Given the description of an element on the screen output the (x, y) to click on. 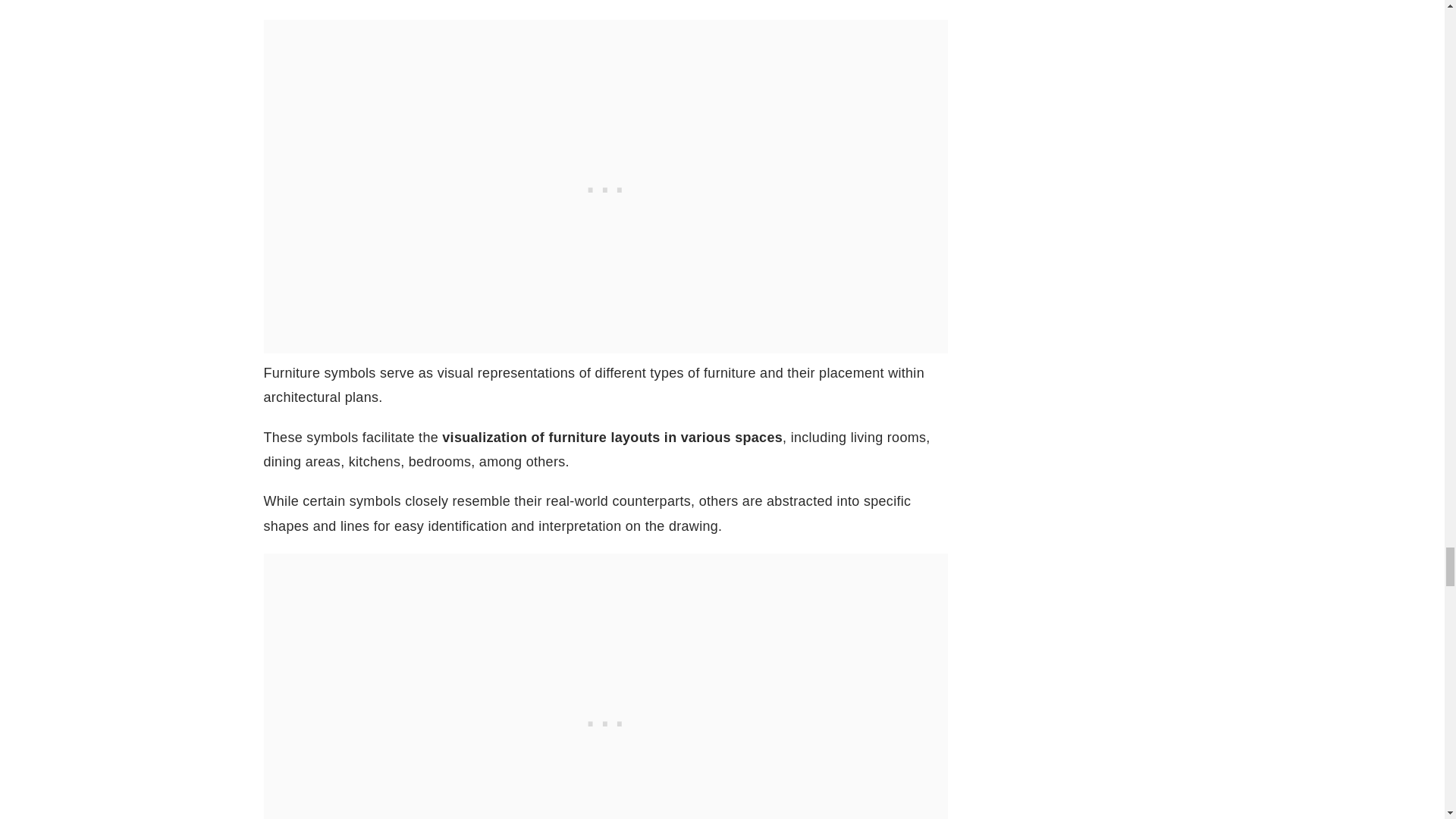
visualization of furniture layouts in various spaces (612, 437)
